Given the description of an element on the screen output the (x, y) to click on. 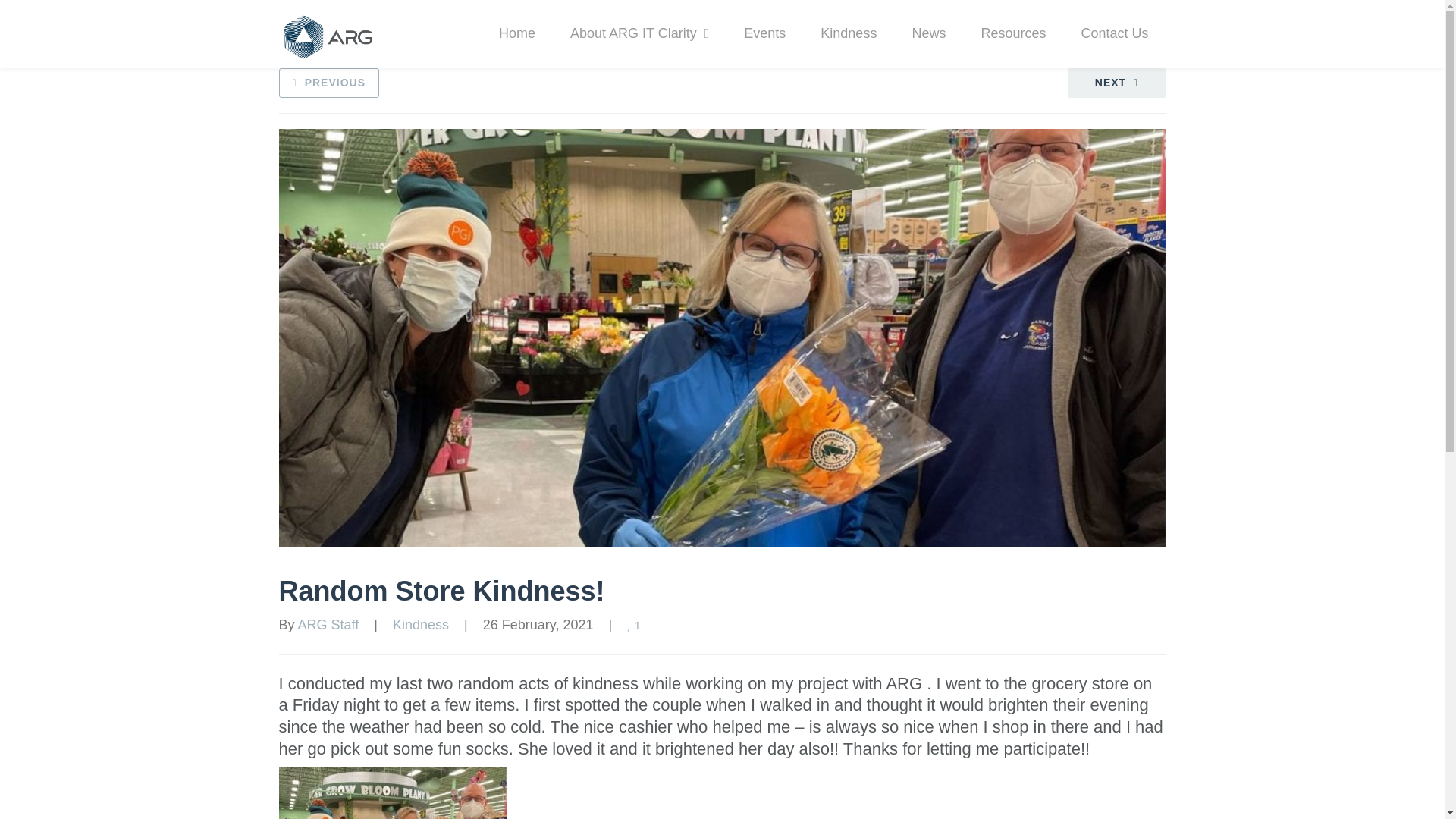
Posts by ARG Staff (328, 624)
About ARG IT Clarity (639, 33)
Kindness (420, 624)
Like this (635, 625)
Random Store Kindness! (442, 590)
1  (635, 625)
Kindness (848, 33)
Resources (1012, 33)
ARG Staff (328, 624)
Random Store Kindness! (442, 590)
